Given the description of an element on the screen output the (x, y) to click on. 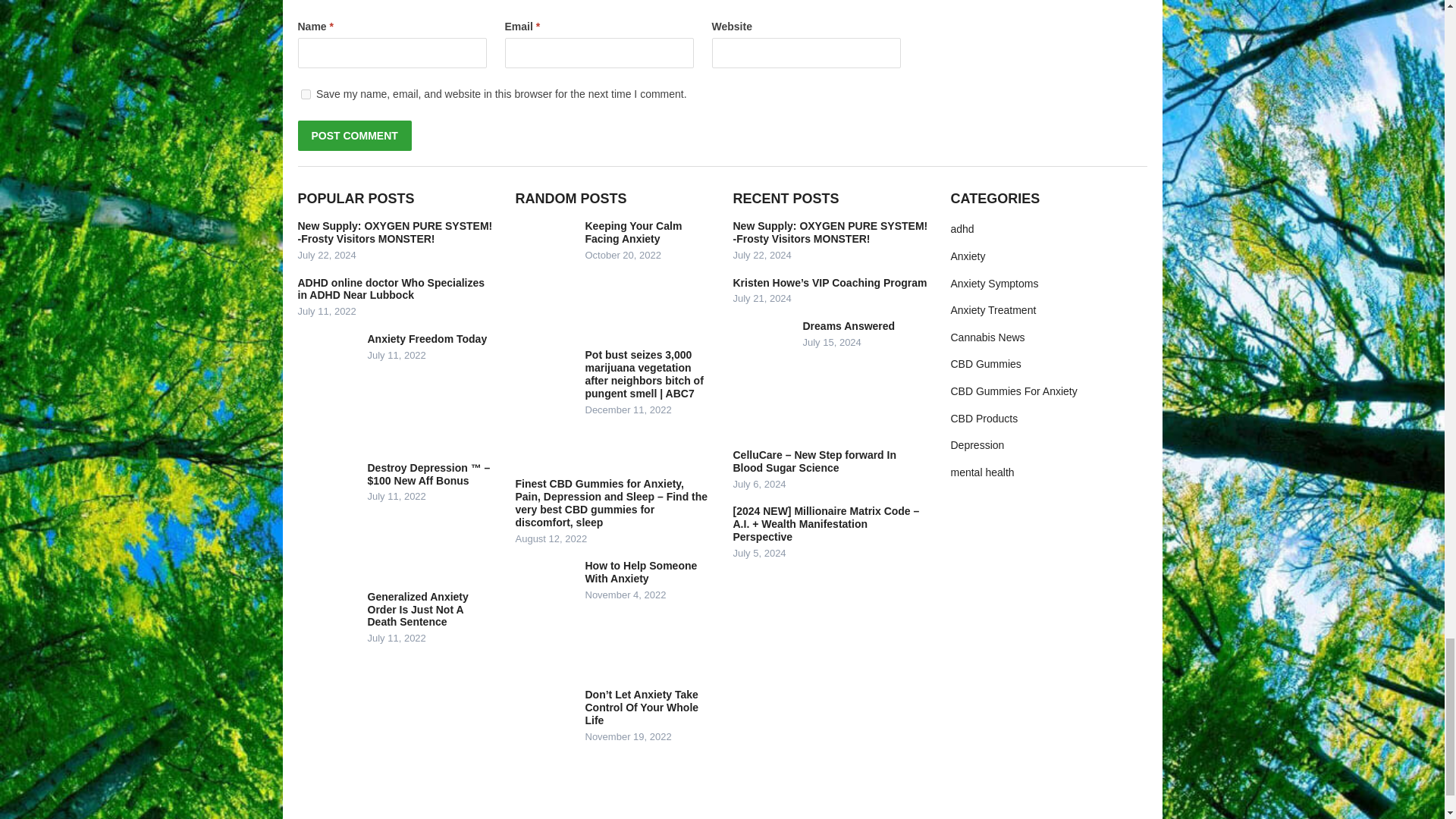
Post Comment (353, 135)
yes (304, 94)
